Given the description of an element on the screen output the (x, y) to click on. 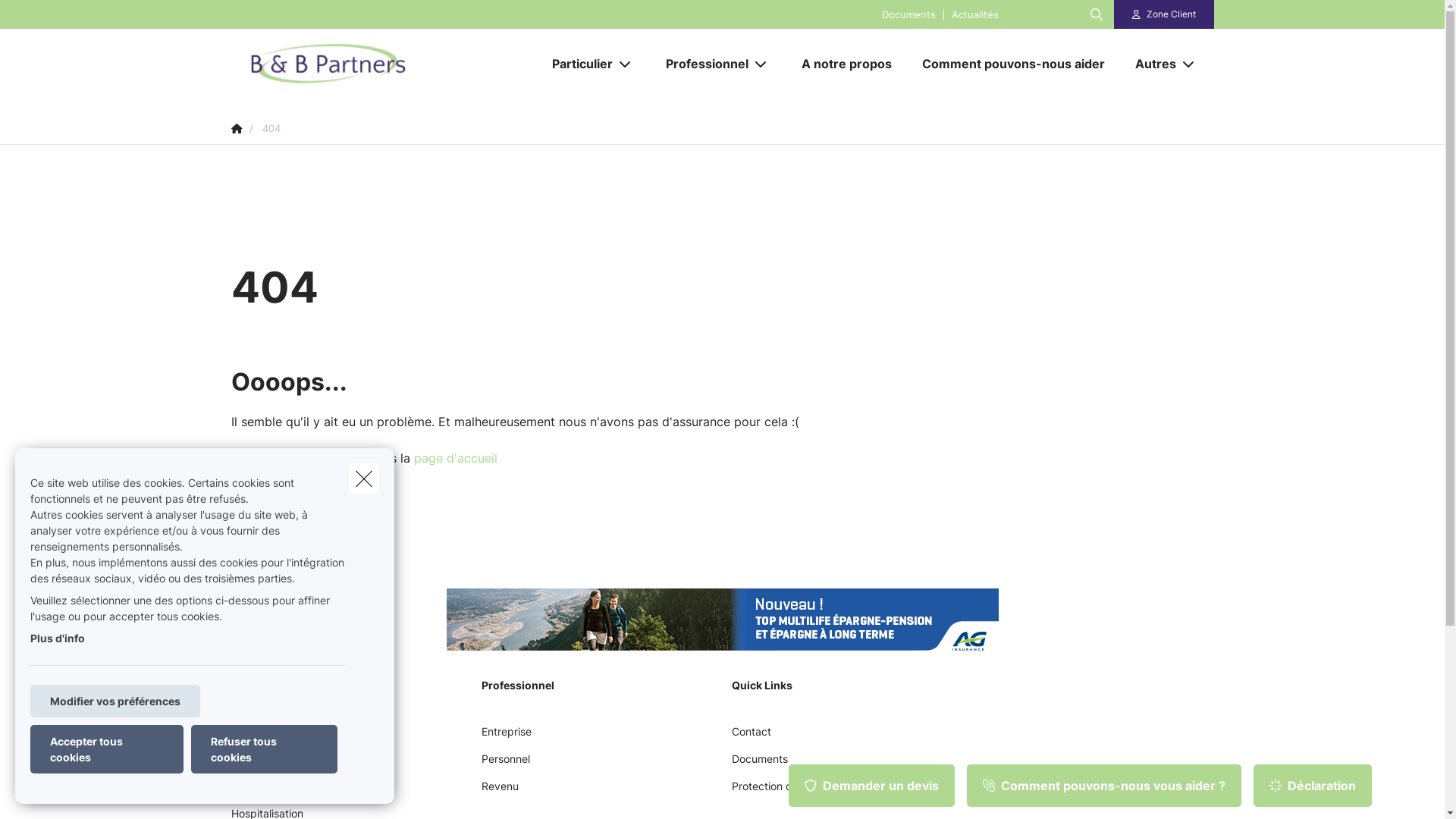
Entreprise Element type: text (505, 736)
Protection du client Element type: text (779, 791)
page d'accueil Element type: text (455, 457)
Demander un devis Element type: text (871, 785)
Particulier Element type: text (576, 63)
Comment pouvons-nous aider Element type: text (1013, 63)
A notre propos Element type: text (845, 63)
Accepter tous cookies Element type: text (106, 748)
Plus d'info Element type: text (57, 637)
Zone Client Element type: text (1163, 14)
Documents Element type: text (759, 764)
Revenu Element type: text (498, 791)
Habitation Element type: text (255, 764)
Contact Element type: text (750, 736)
Comment pouvons-nous vous aider ? Element type: text (1103, 785)
Personnel Element type: text (504, 764)
Autres Element type: text (1149, 63)
Rechercher Element type: text (54, 18)
Refuser tous cookies Element type: text (264, 748)
Professionnel Element type: text (701, 63)
Famille et protection juridique Element type: text (303, 791)
Documents Element type: text (908, 13)
